Given the description of an element on the screen output the (x, y) to click on. 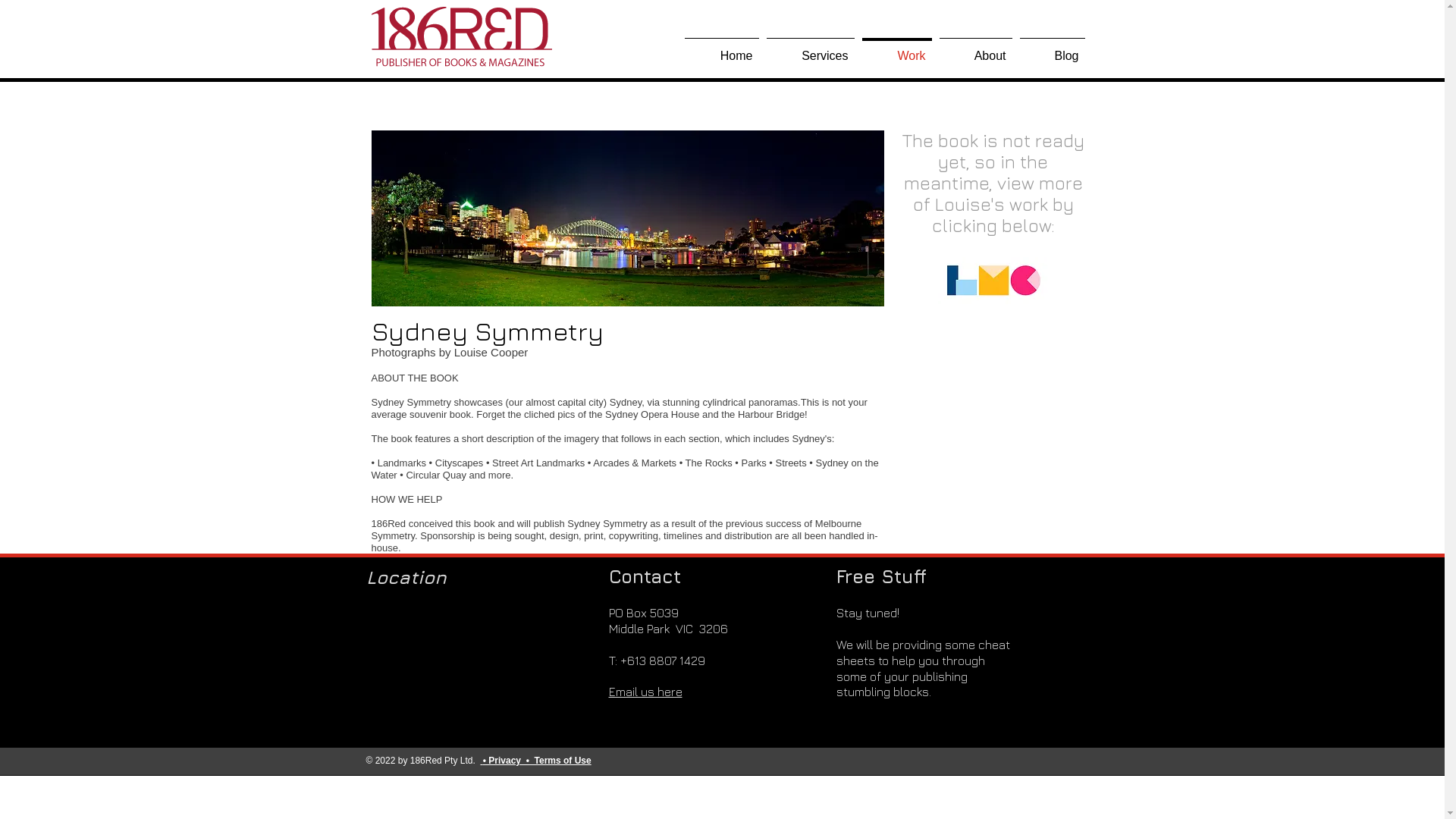
Services Element type: text (810, 48)
About Element type: text (975, 48)
Louise M Cooper photographer Element type: hover (992, 280)
LavendarBay2.jpg Element type: hover (627, 217)
Email us here Element type: text (644, 691)
Blog Element type: text (1052, 48)
Work Element type: text (896, 48)
Home Element type: text (721, 48)
Google Maps Element type: hover (467, 657)
Publish my Book or Magazine Element type: hover (461, 37)
